Given the description of an element on the screen output the (x, y) to click on. 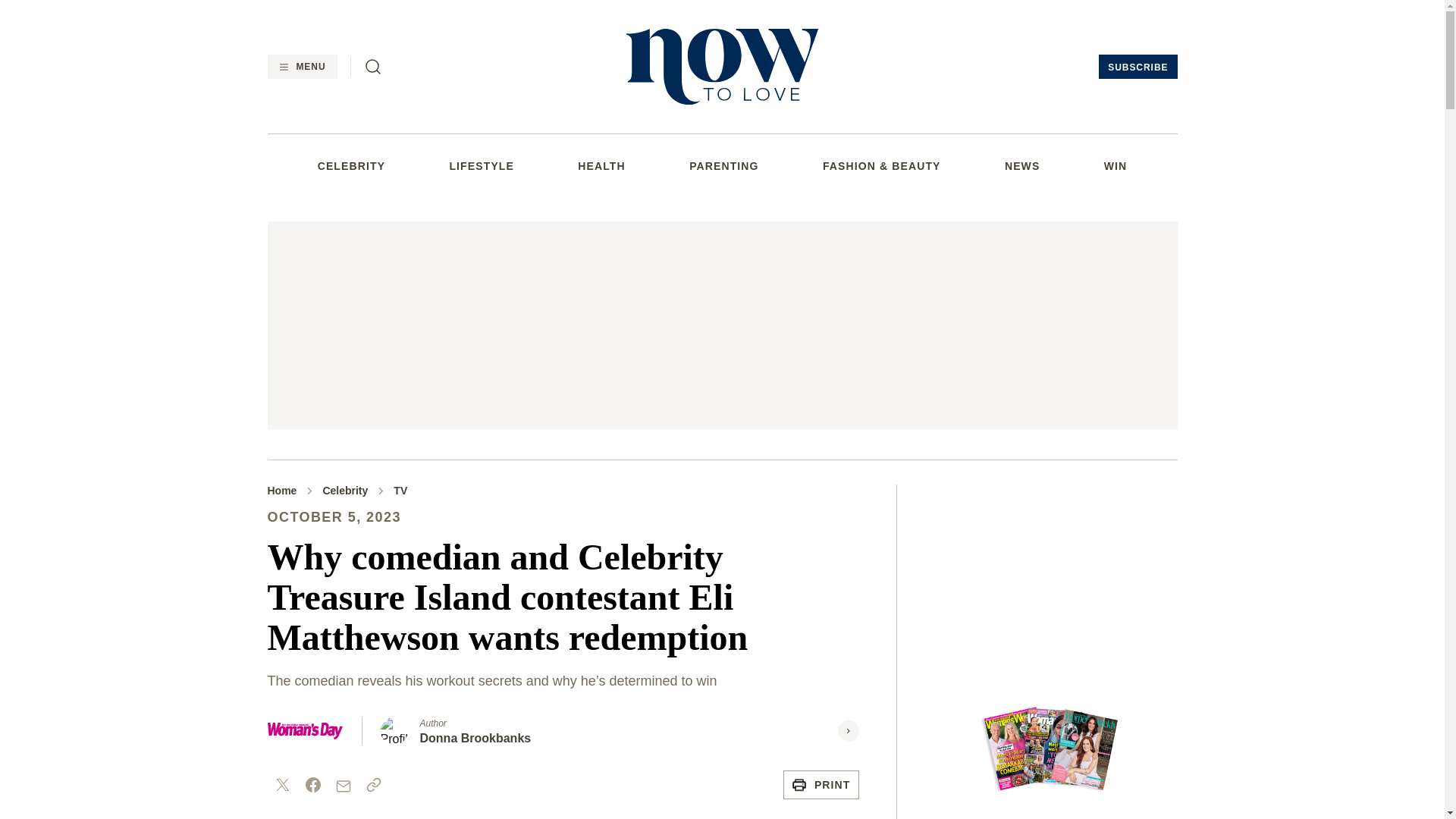
SUBSCRIBE (1137, 66)
CELEBRITY (351, 165)
LIFESTYLE (480, 165)
HEALTH (601, 165)
NEWS (1021, 165)
WIN (1114, 165)
MENU (301, 66)
PARENTING (723, 165)
